Given the description of an element on the screen output the (x, y) to click on. 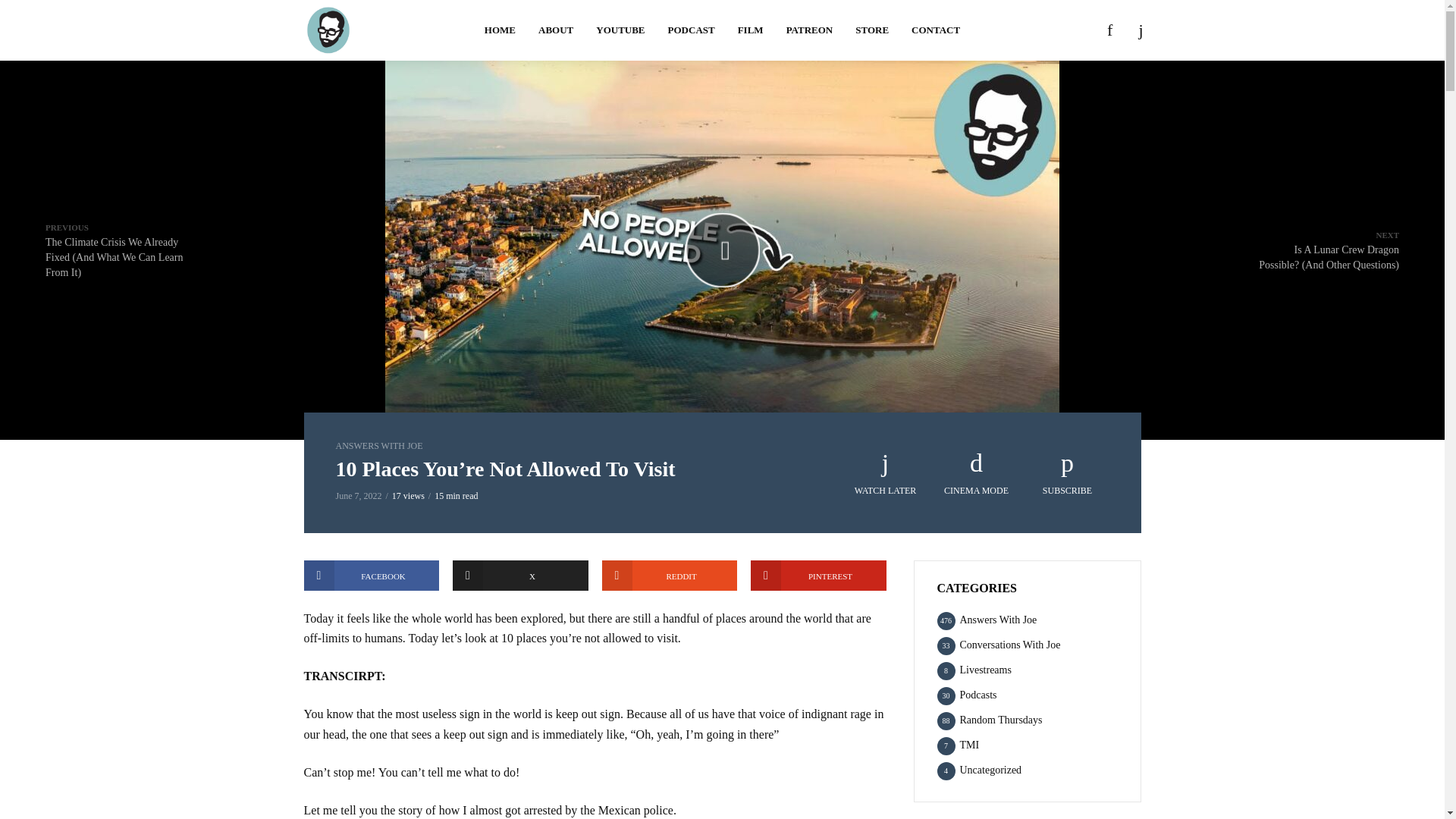
CONTACT (935, 30)
ABOUT (556, 30)
YOUTUBE (620, 30)
PATREON (809, 30)
FILM (750, 30)
STORE (871, 30)
PODCAST (691, 30)
HOME (500, 30)
